Given the description of an element on the screen output the (x, y) to click on. 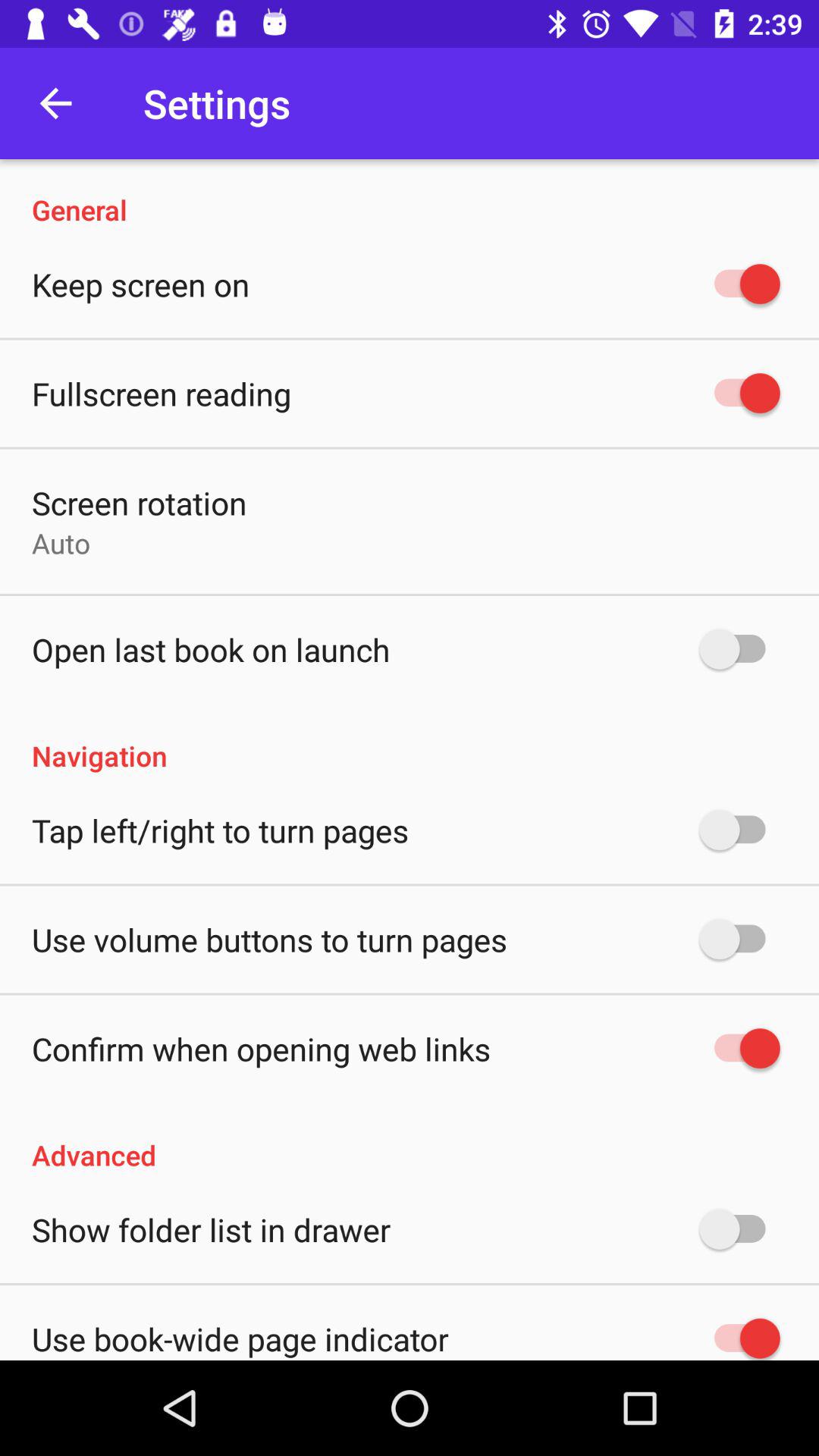
turn on the auto (60, 542)
